Given the description of an element on the screen output the (x, y) to click on. 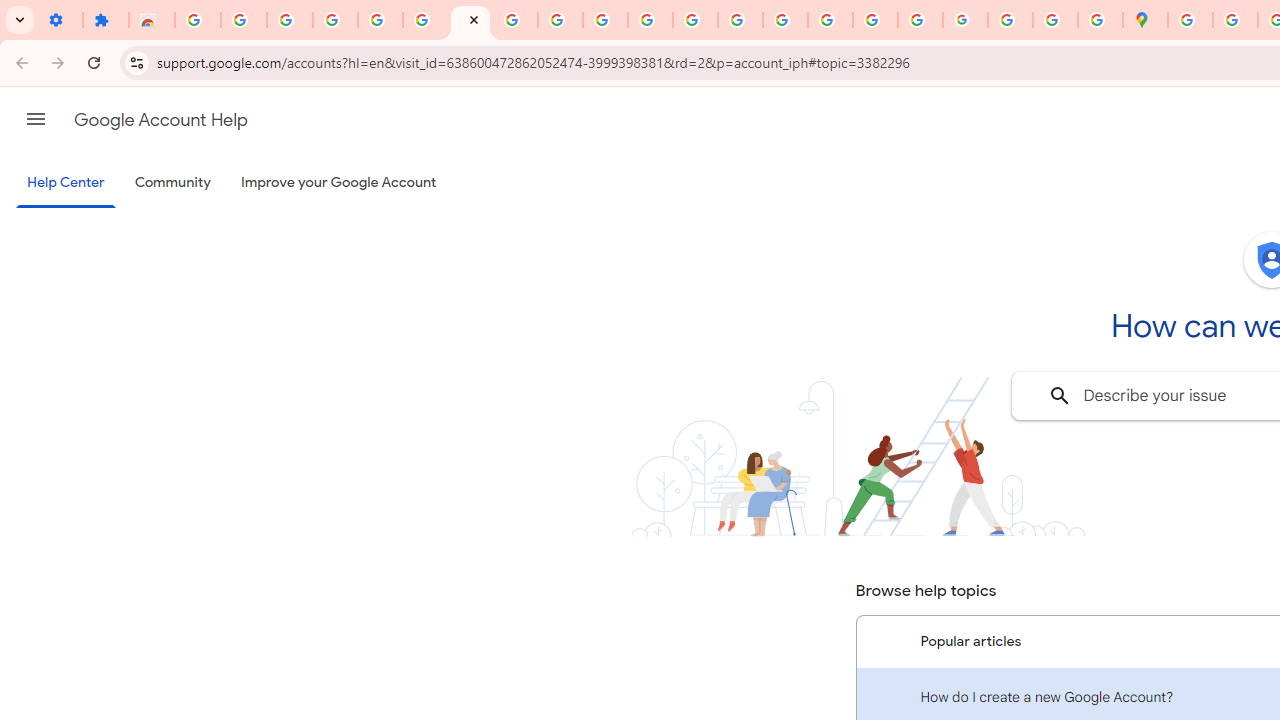
YouTube (605, 20)
Community (171, 183)
Help Center (65, 183)
Sign in - Google Accounts (198, 20)
Main menu (35, 119)
